Given the description of an element on the screen output the (x, y) to click on. 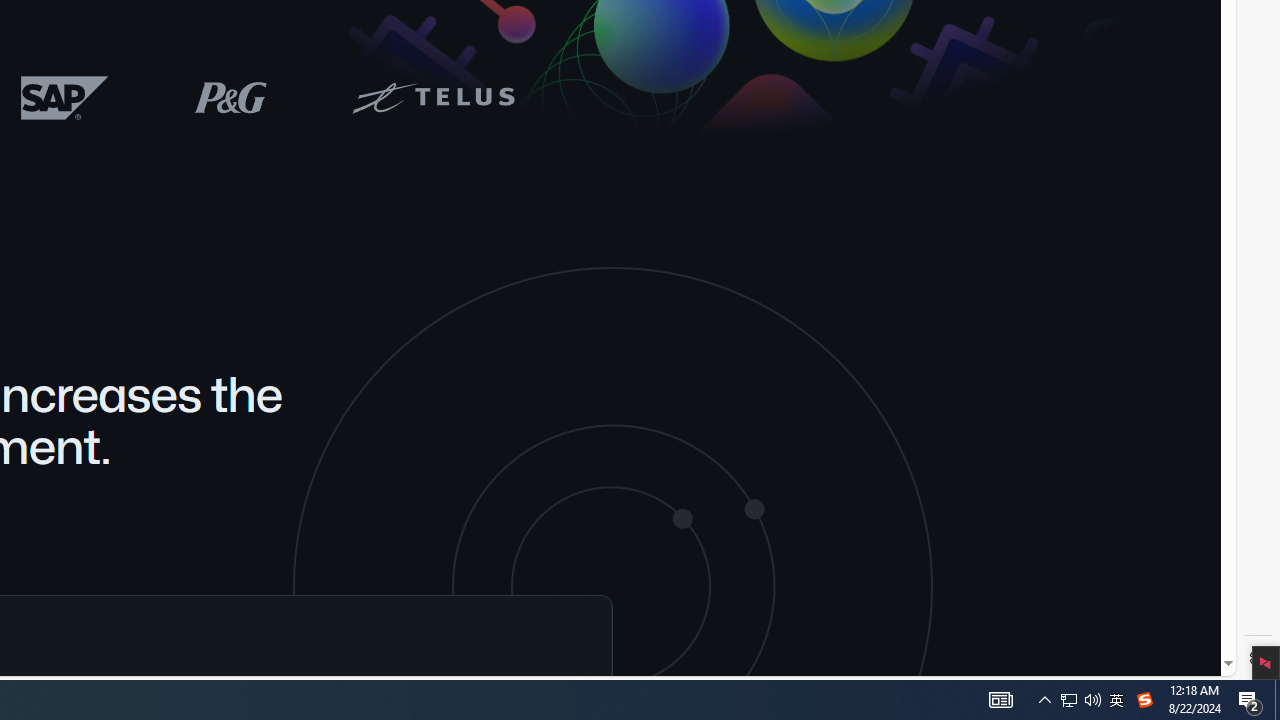
P&G logo (230, 96)
SAP logo (65, 97)
Telus logo (432, 96)
Settings (1258, 658)
